Given the description of an element on the screen output the (x, y) to click on. 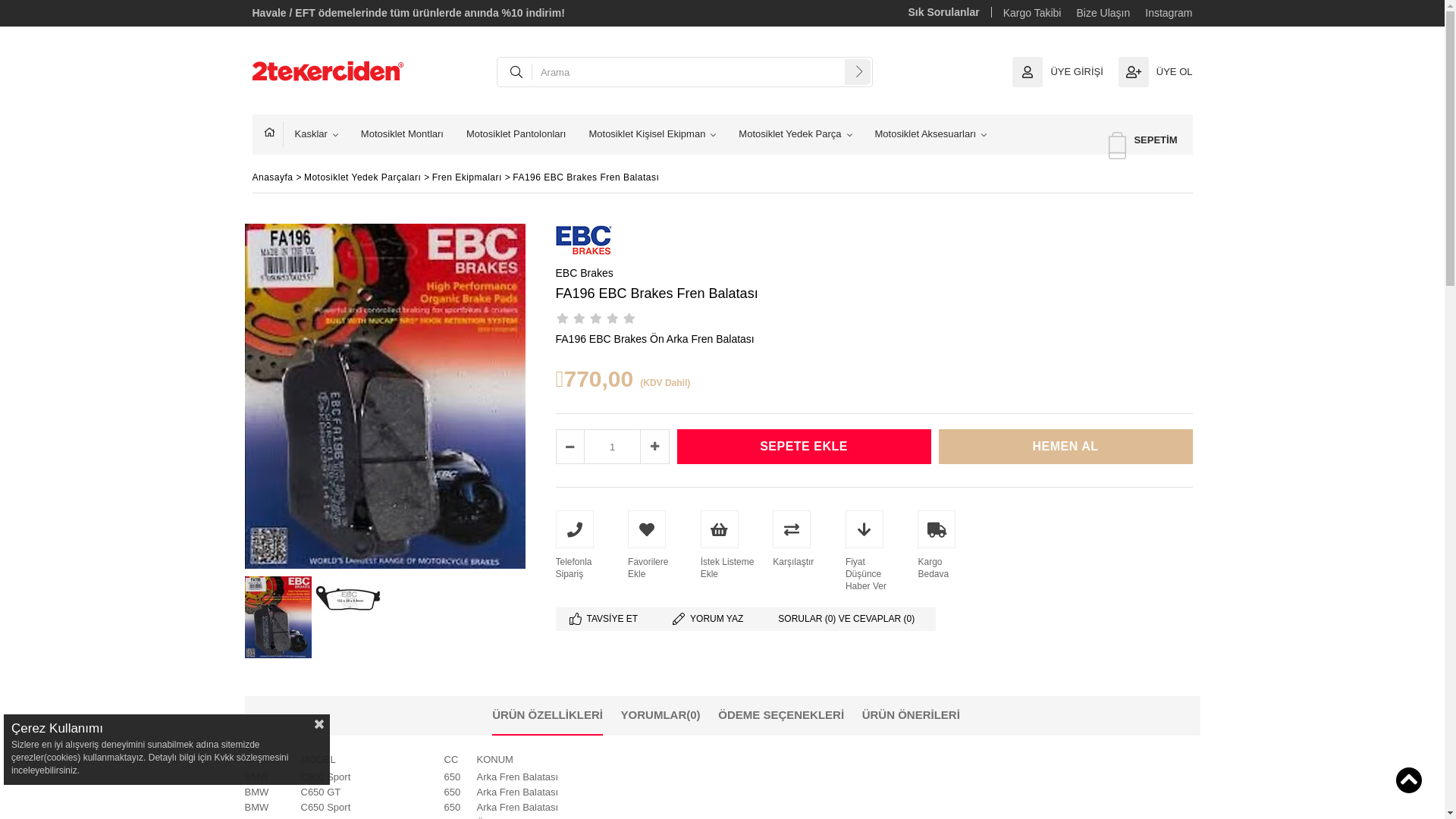
YORUM YAZ Element type: text (711, 618)
Anasayfa Element type: text (273, 134)
EBC Brakes Element type: text (583, 272)
Instagram Element type: text (1168, 12)
SORULAR (0) VE CEVAPLAR (0) Element type: text (849, 618)
Ara Element type: hover (857, 71)
Kargo Takibi Element type: text (1032, 12)
Kasklar Element type: text (315, 134)
TAVSIYE ET Element type: text (606, 618)
YORUMLAR(0) Element type: text (660, 715)
Kargo Bedava Element type: text (946, 545)
SEPETIM Element type: text (1142, 140)
Ara Element type: text (857, 71)
Favorilere Ekle Element type: text (656, 545)
Anasayfa Element type: text (273, 177)
